Given the description of an element on the screen output the (x, y) to click on. 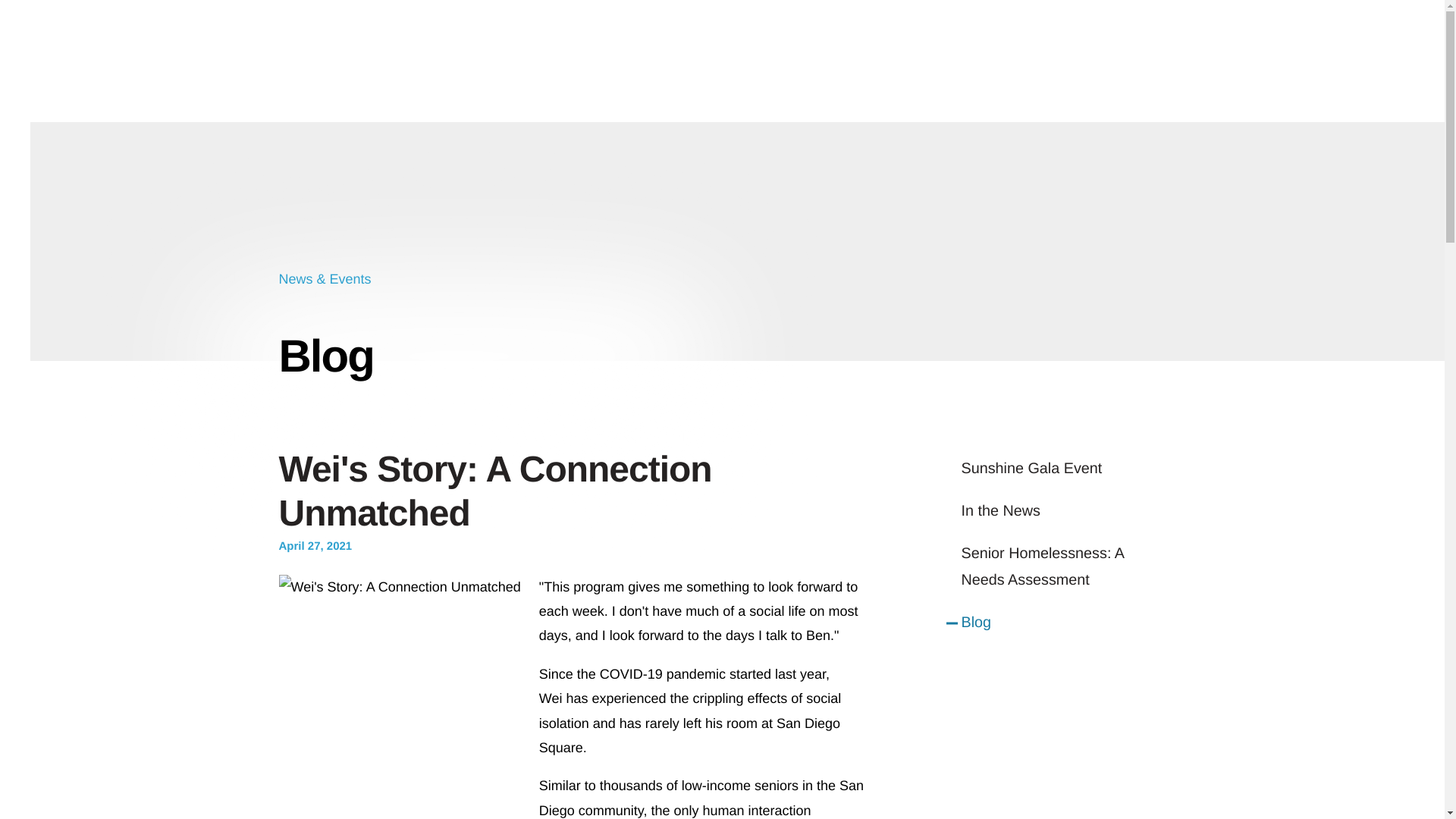
Sunshine Gala Event (1063, 468)
Senior Homelessness: A Needs Assessment (1063, 567)
In the News (1063, 511)
Blog (1063, 622)
